Given the description of an element on the screen output the (x, y) to click on. 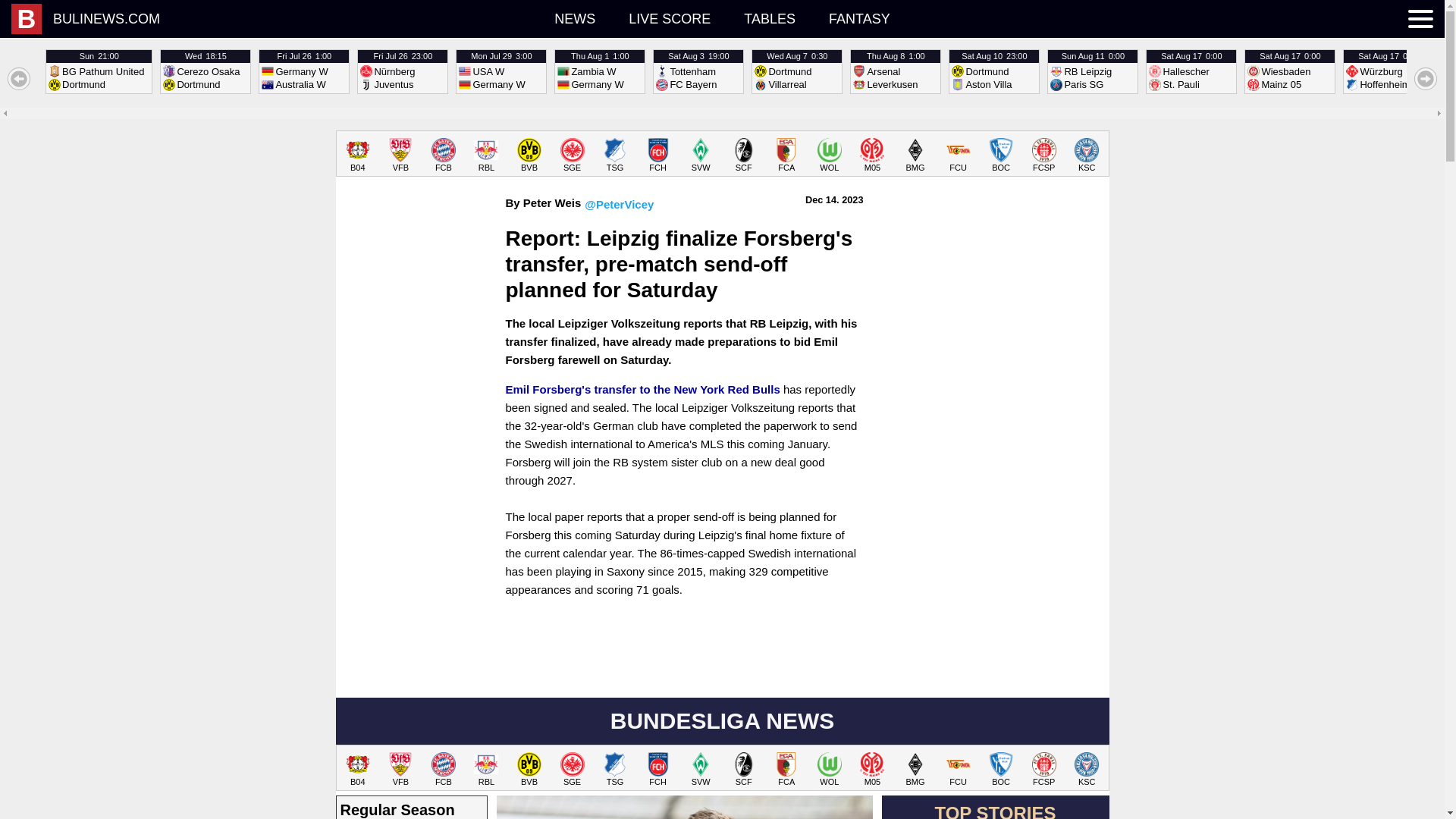
LIVE SCORE (668, 18)
FANTASY (994, 71)
Union Berlin News (859, 18)
TSG Hoffenheim News (957, 154)
TABLES (599, 71)
Stuttgart News (615, 154)
Mainz News (769, 18)
Gladbach News (400, 154)
Bayer Leverkusen News (871, 154)
FC Heidenheim News (915, 154)
